Given the description of an element on the screen output the (x, y) to click on. 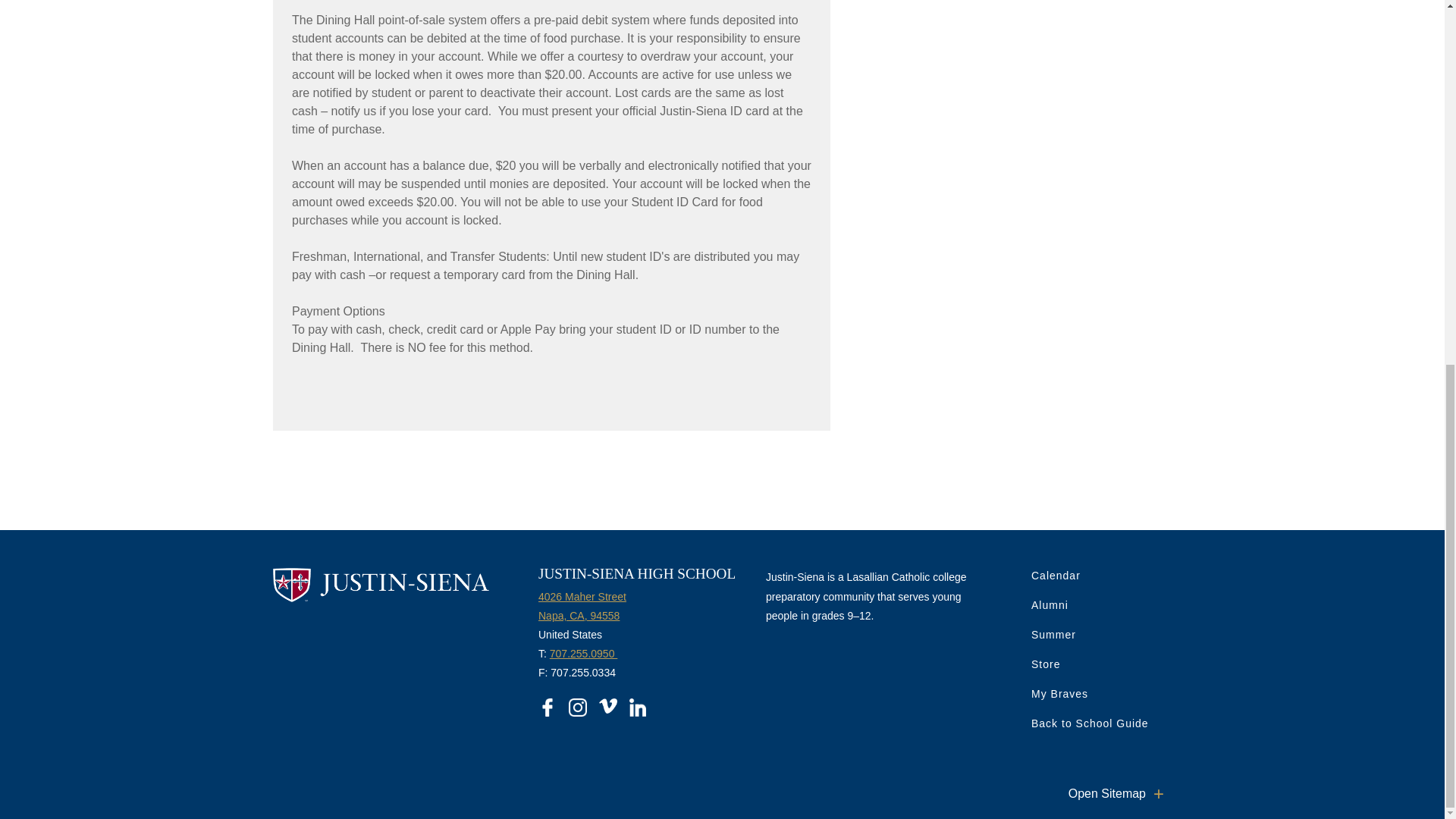
open or close this sitemap (1120, 793)
